Given the description of an element on the screen output the (x, y) to click on. 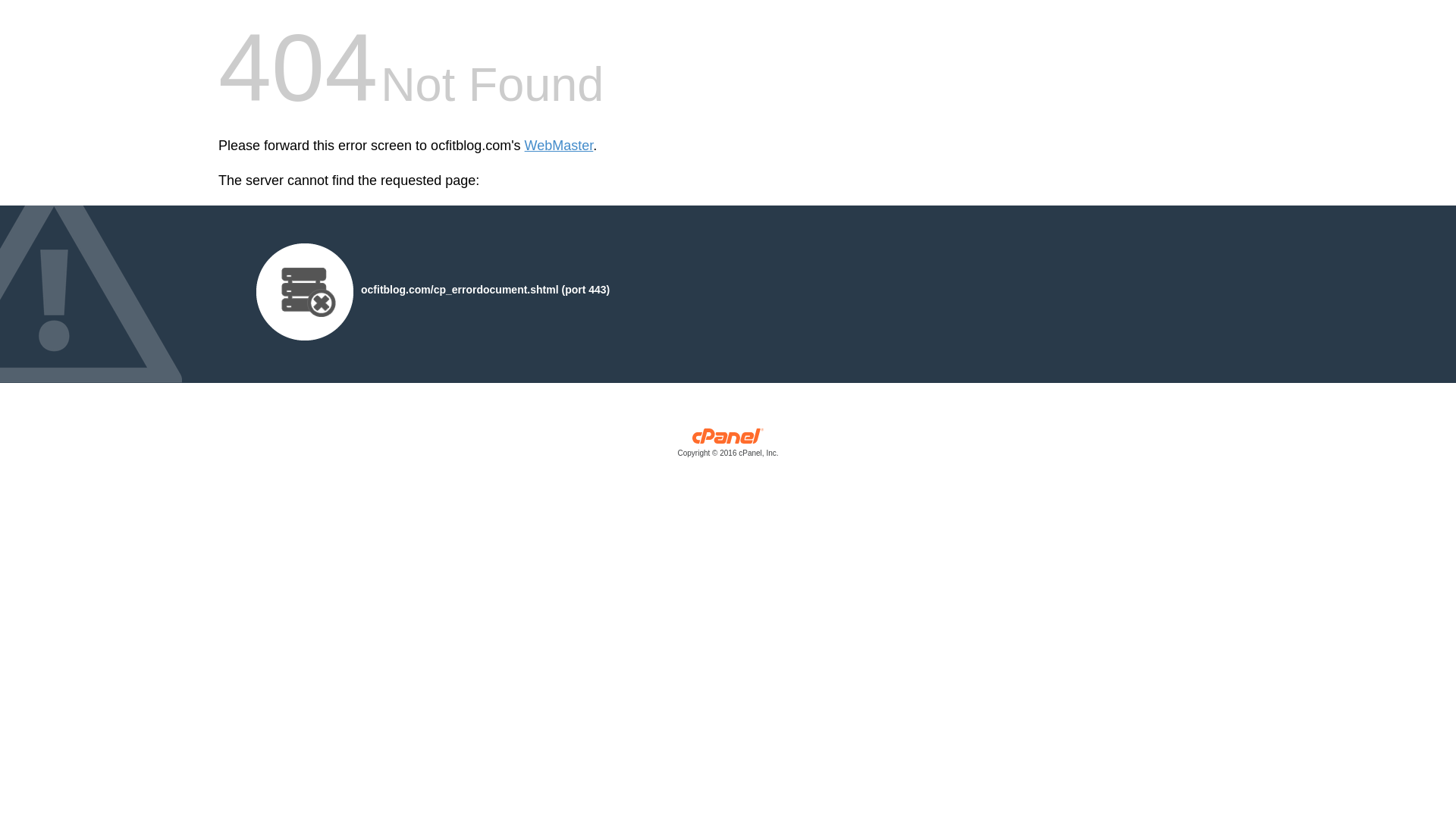
cPanel, Inc. (727, 446)
WebMaster (559, 145)
